Given the description of an element on the screen output the (x, y) to click on. 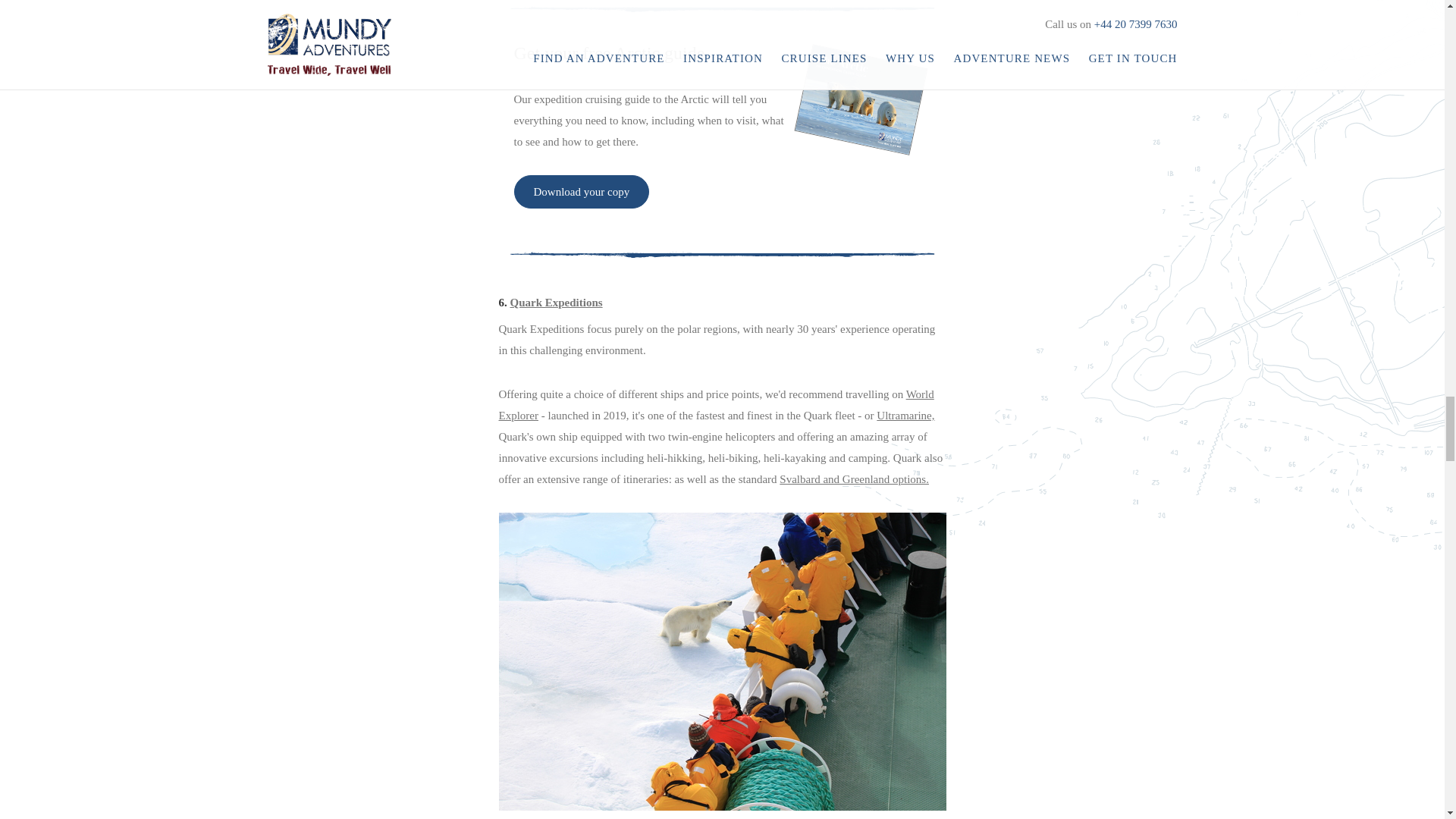
Download your copy (581, 191)
